Given the description of an element on the screen output the (x, y) to click on. 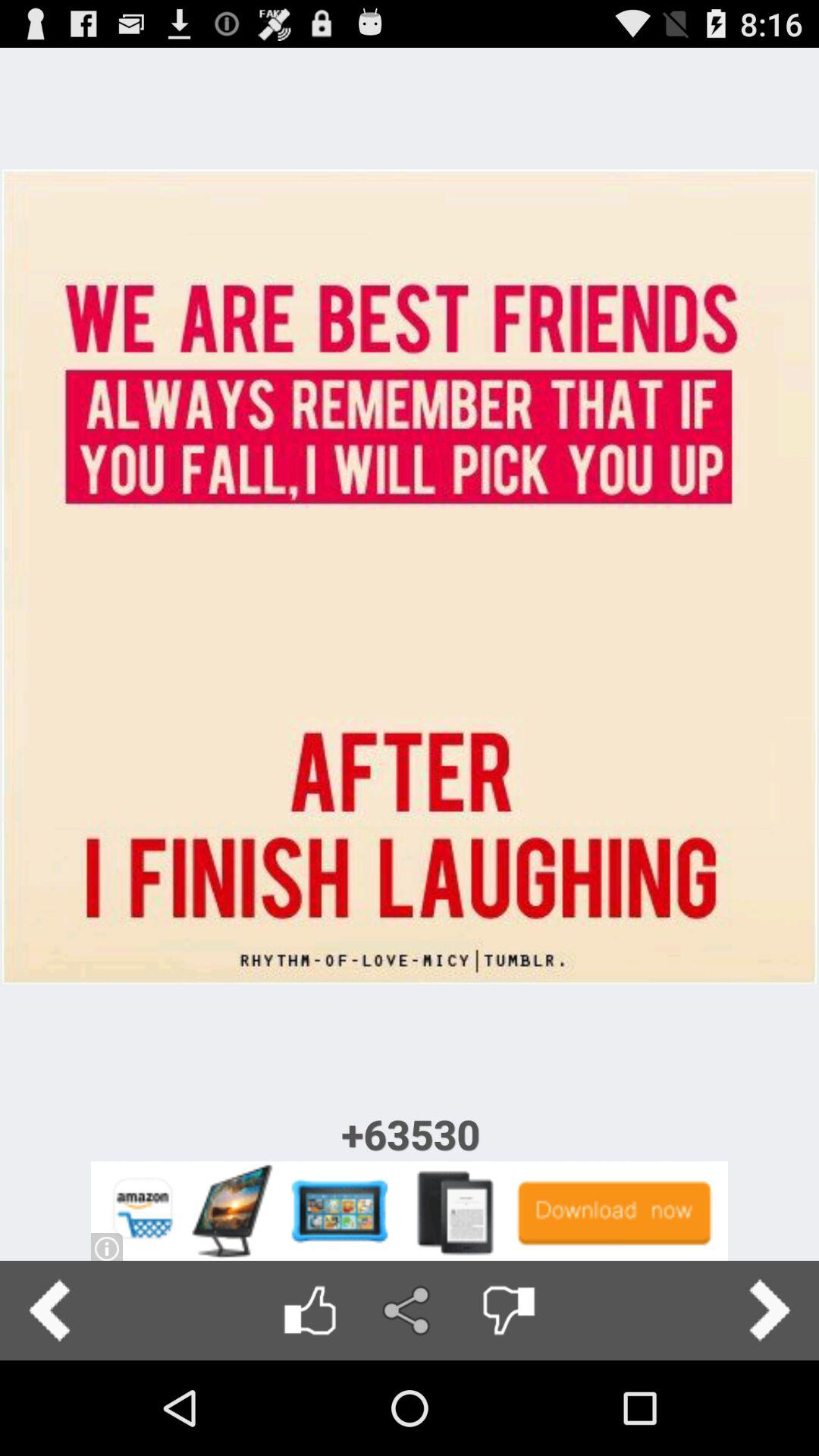
previou button (49, 1310)
